Given the description of an element on the screen output the (x, y) to click on. 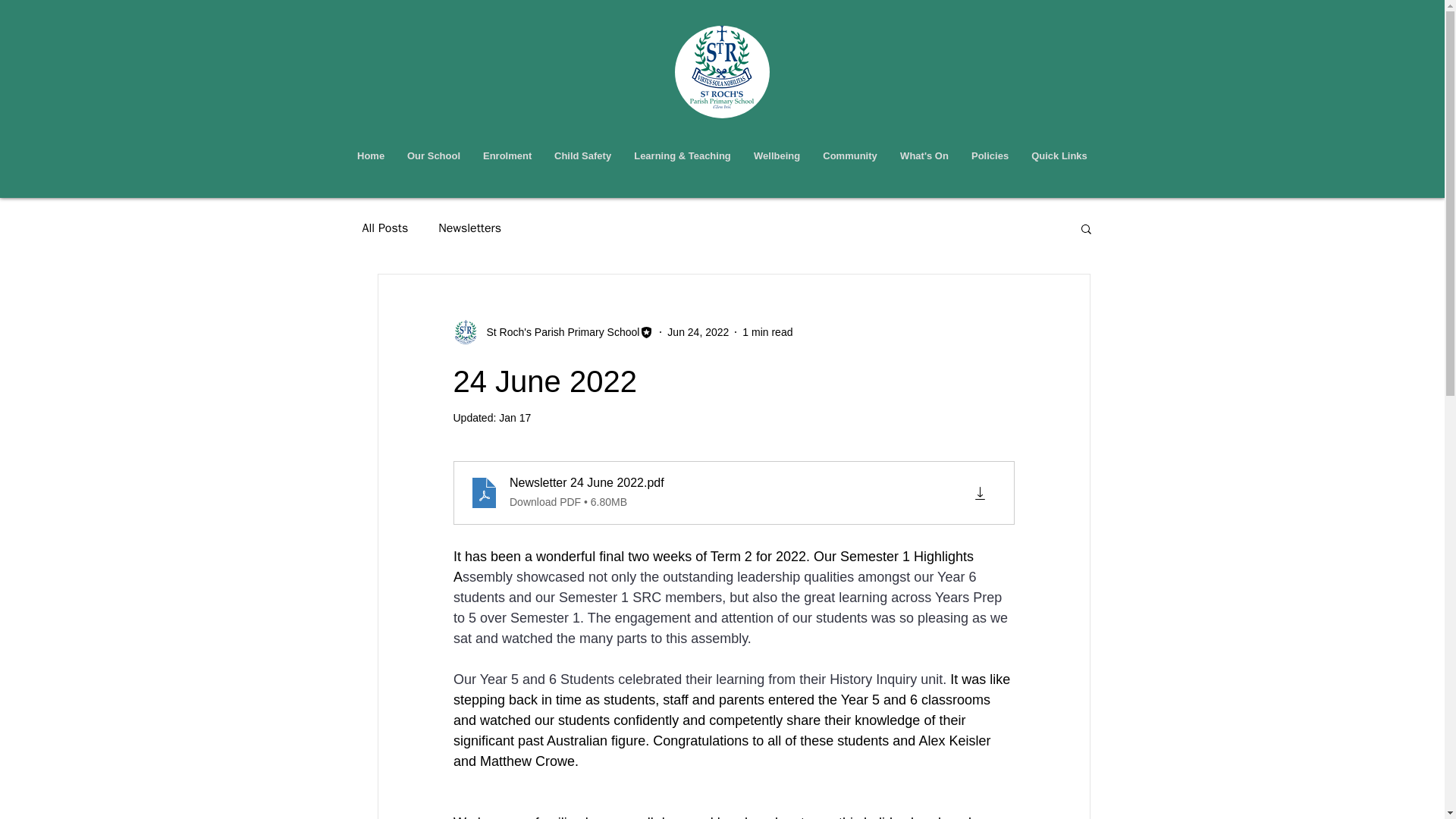
Wellbeing (776, 155)
Policies (989, 155)
All Posts (385, 227)
Jun 24, 2022 (697, 331)
Jan 17 (515, 417)
St Roch's Parish Primary School (558, 332)
Home (371, 155)
What's On (923, 155)
Enrolment (507, 155)
Child Safety (583, 155)
